Given the description of an element on the screen output the (x, y) to click on. 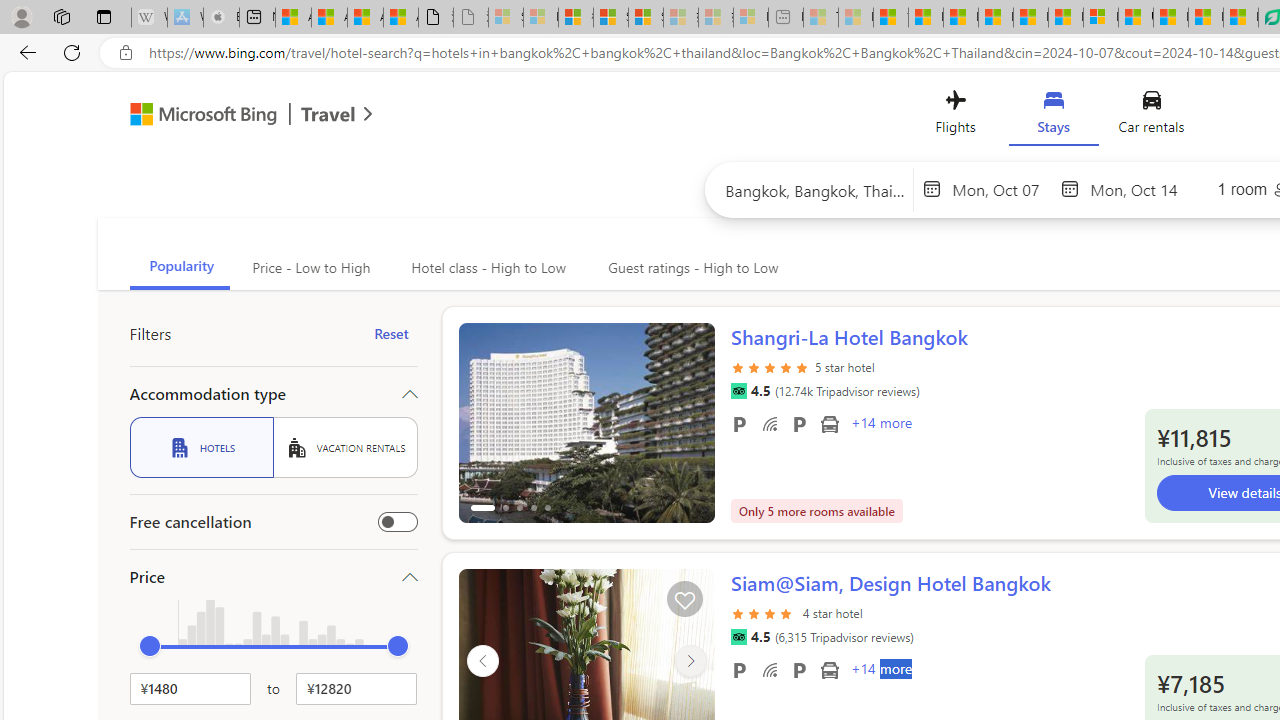
Flights (955, 116)
Aberdeen, Hong Kong SAR weather forecast | Microsoft Weather (329, 17)
Hotel class - High to Low (485, 268)
HOTELS (201, 447)
Marine life - MSN - Sleeping (855, 17)
End date (1139, 188)
